Given the description of an element on the screen output the (x, y) to click on. 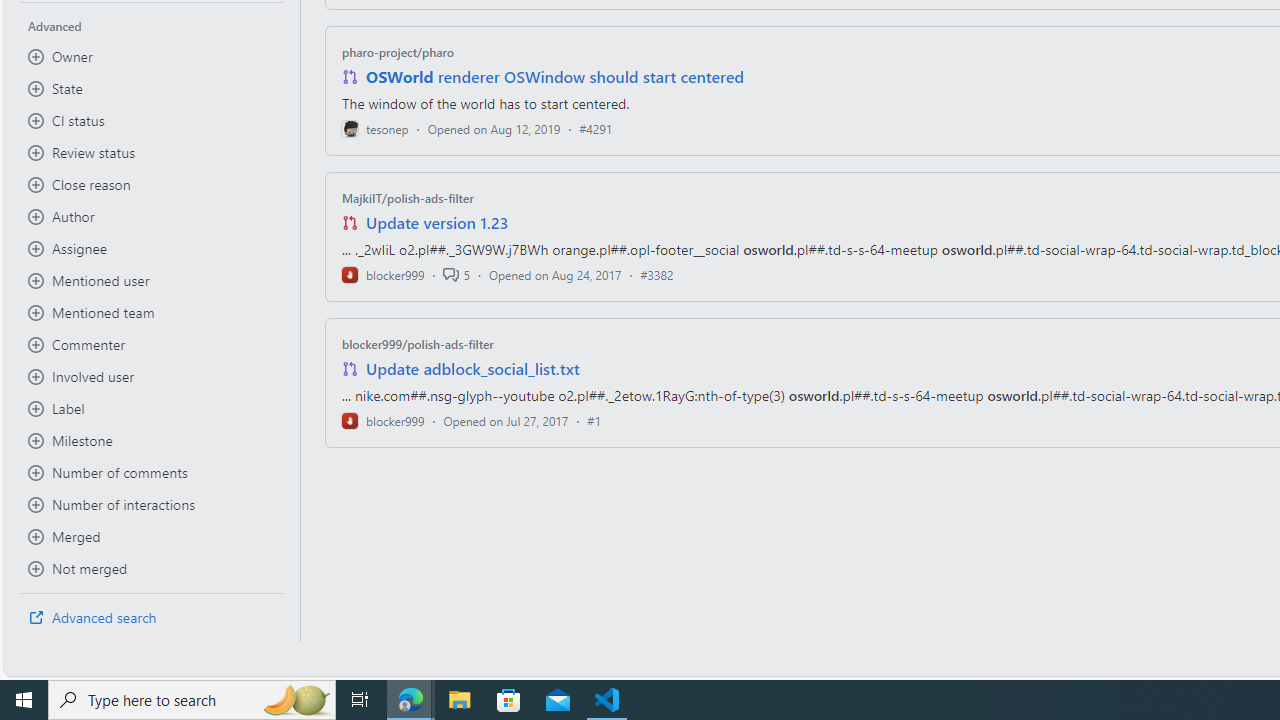
blocker999 (382, 420)
MajkiIT/polish-ads-filter (407, 197)
#1 (594, 420)
5 (455, 273)
